Given the description of an element on the screen output the (x, y) to click on. 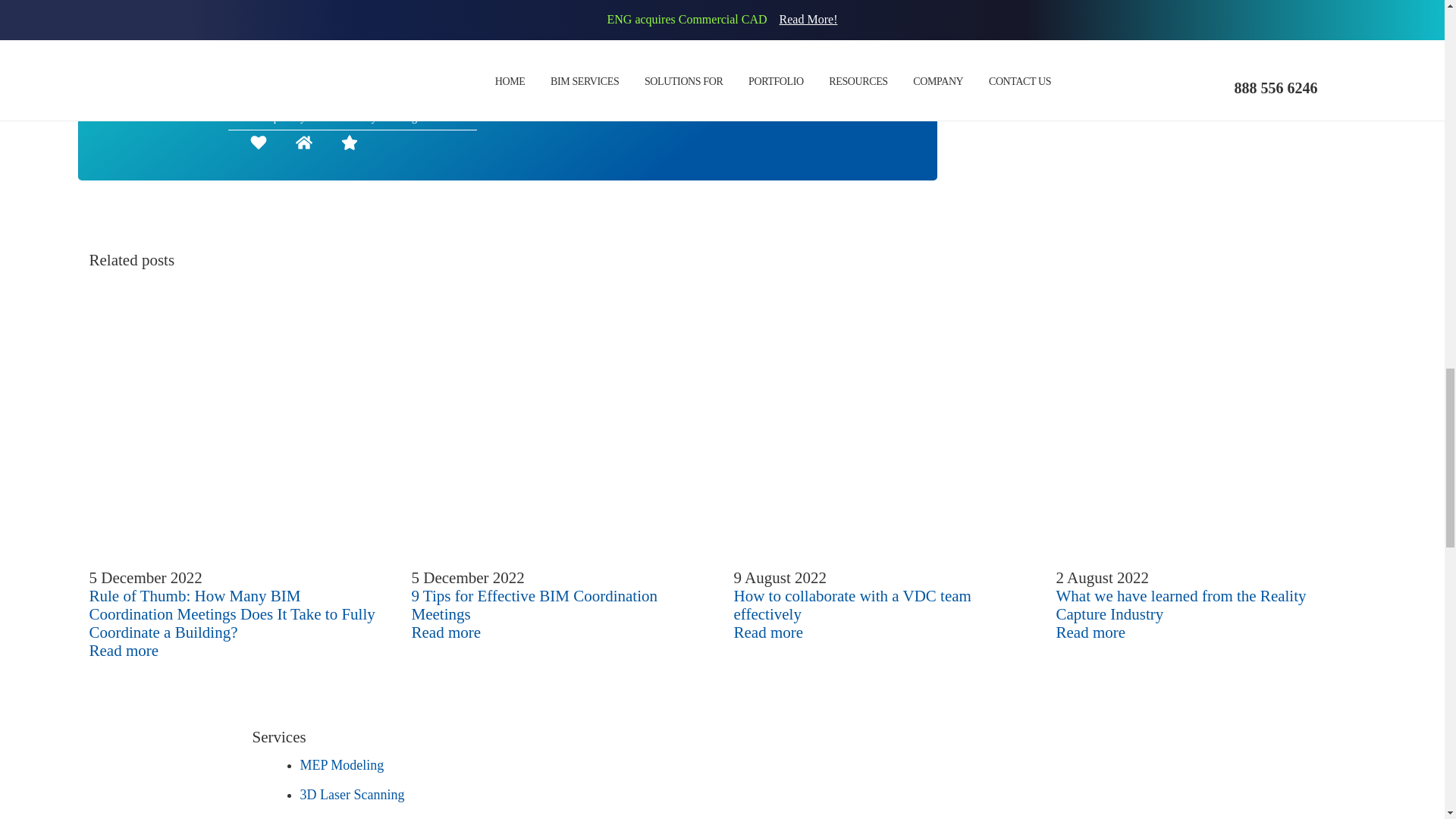
9 Tips for Effective BIM Coordination Meetings (560, 418)
What we have learned from the Reality Capture Industry (1205, 418)
Submit (612, 93)
